Given the description of an element on the screen output the (x, y) to click on. 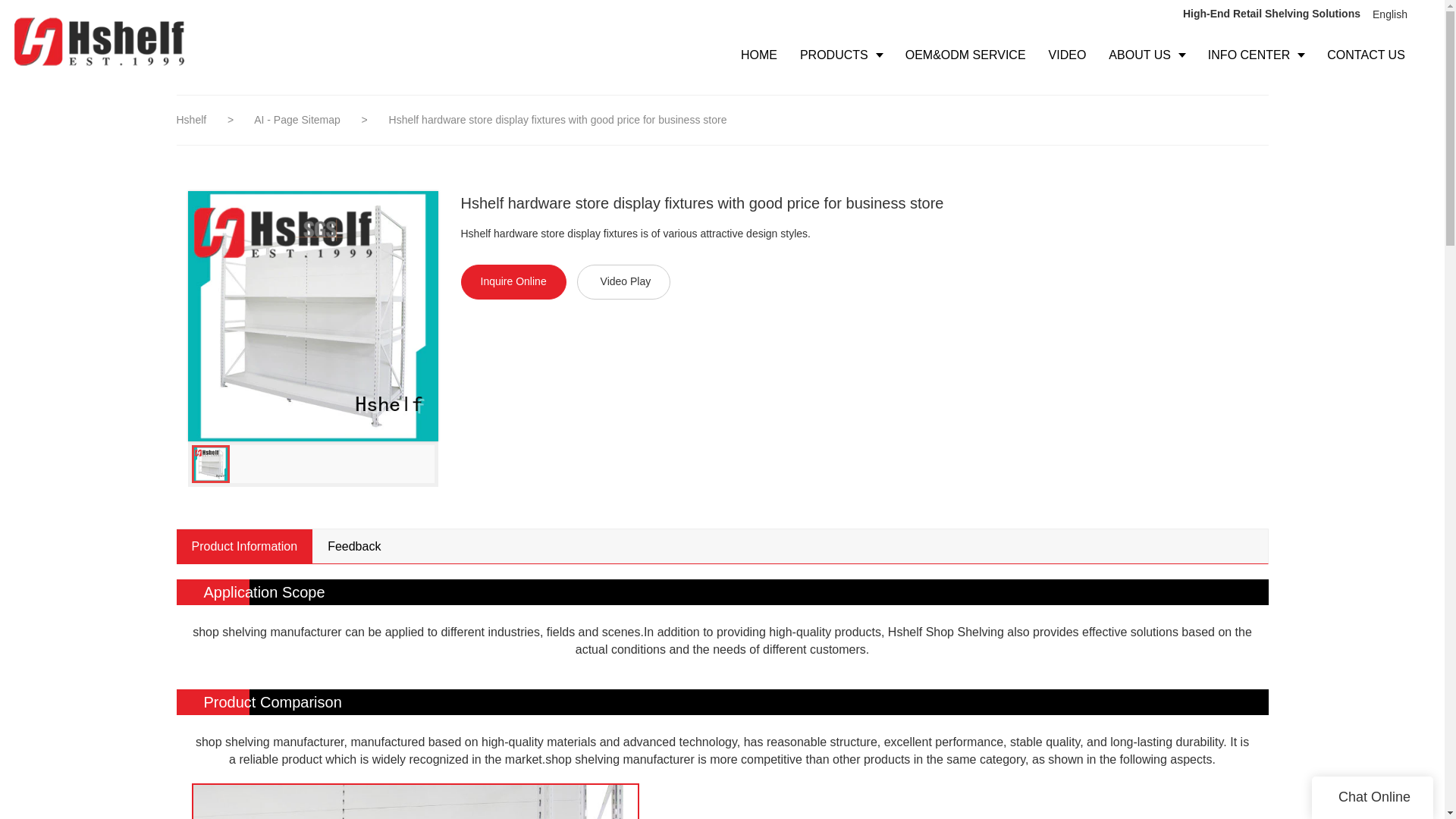
VIDEO (1066, 55)
Hshelf (191, 119)
Inquire Online (513, 281)
PRODUCTS (841, 55)
INFO CENTER (1256, 55)
CONTACT US (1366, 55)
Video Play (623, 281)
AI - Page Sitemap (298, 119)
ABOUT US (1146, 55)
HOME (759, 55)
